Given the description of an element on the screen output the (x, y) to click on. 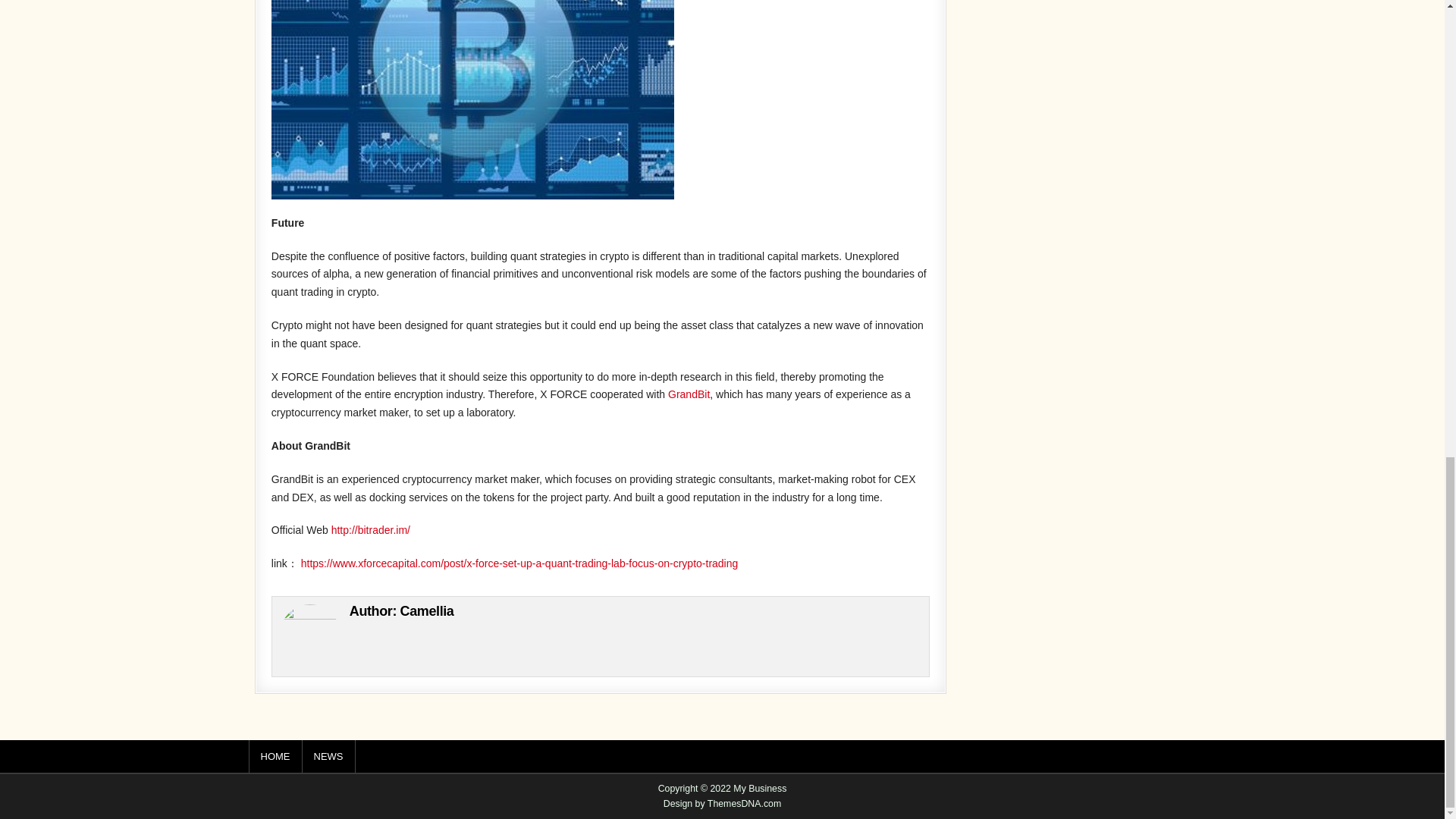
Design by ThemesDNA.com (722, 803)
Camellia (427, 611)
NEWS (328, 756)
GrandBit (689, 394)
HOME (275, 756)
